Given the description of an element on the screen output the (x, y) to click on. 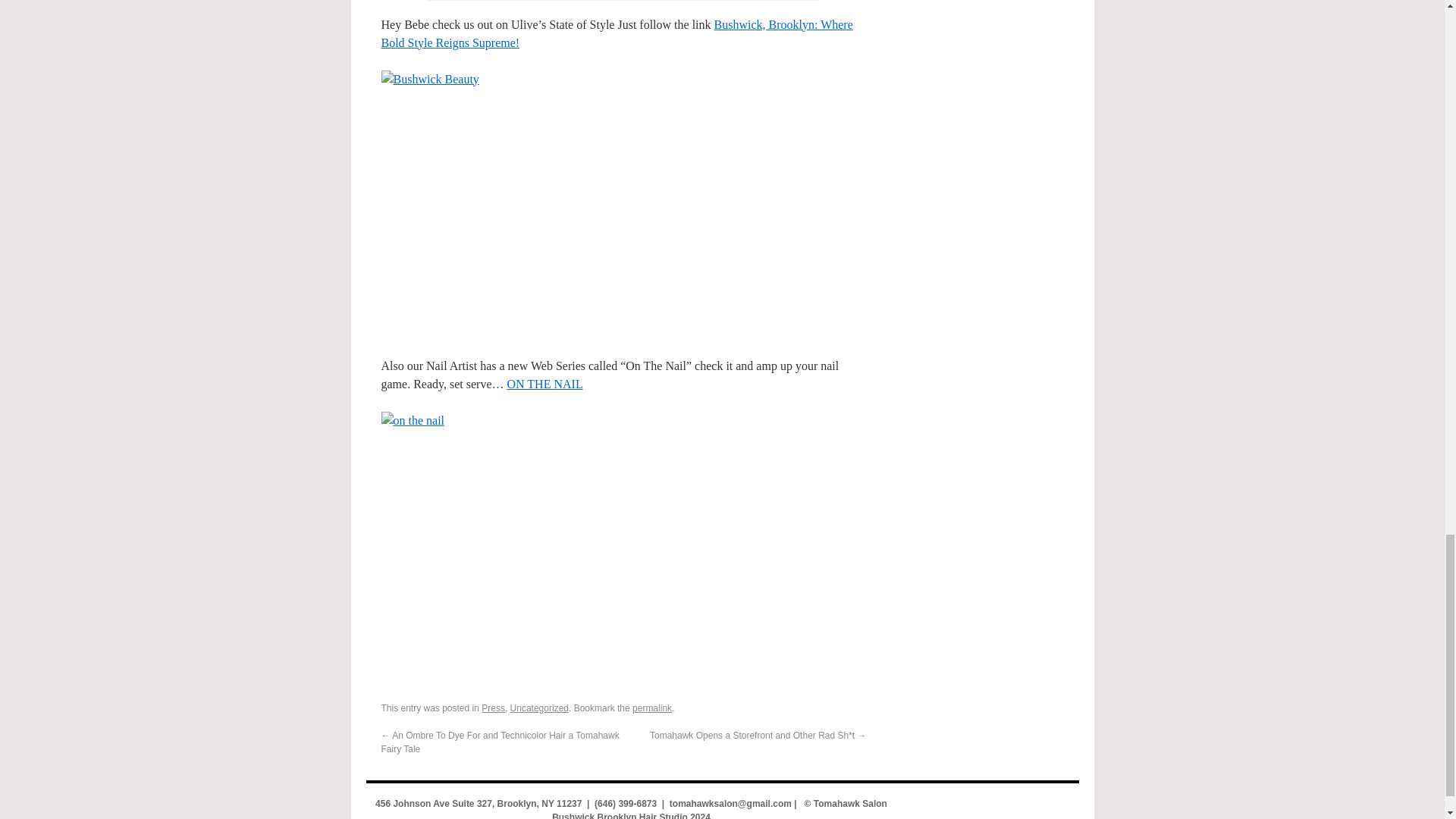
Bushwick, Brooklyn: Where Bold Style Reigns Supreme! (615, 33)
ON THE NAIL (544, 383)
Press (493, 707)
permalink (651, 707)
Uncategorized (540, 707)
